Given the description of an element on the screen output the (x, y) to click on. 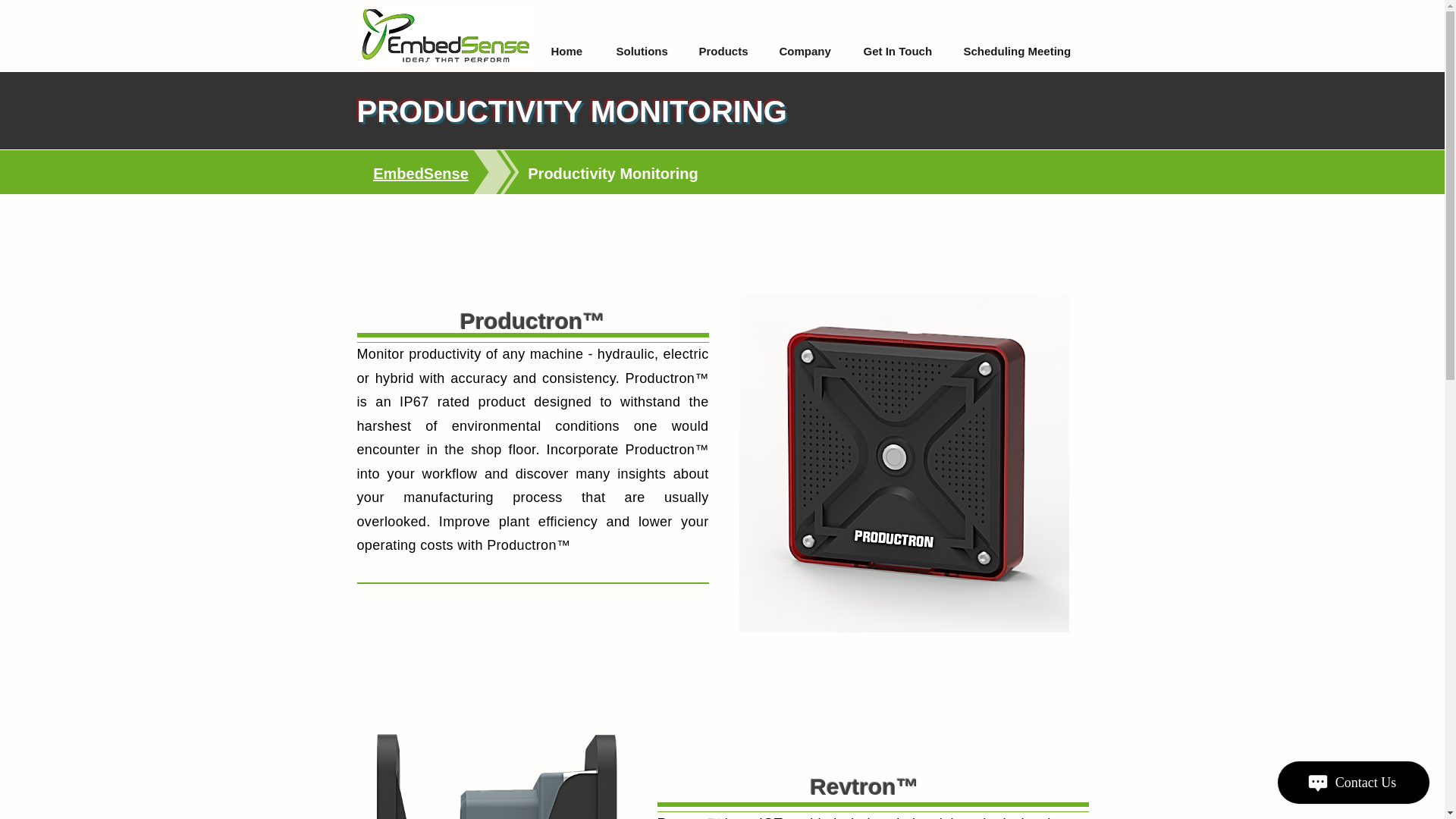
Home (572, 51)
Scheduling Meeting (1021, 51)
Embedsense image.jpg (444, 37)
EmbedSense (420, 173)
Get In Touch (900, 51)
right-arrow.png (494, 171)
